Given the description of an element on the screen output the (x, y) to click on. 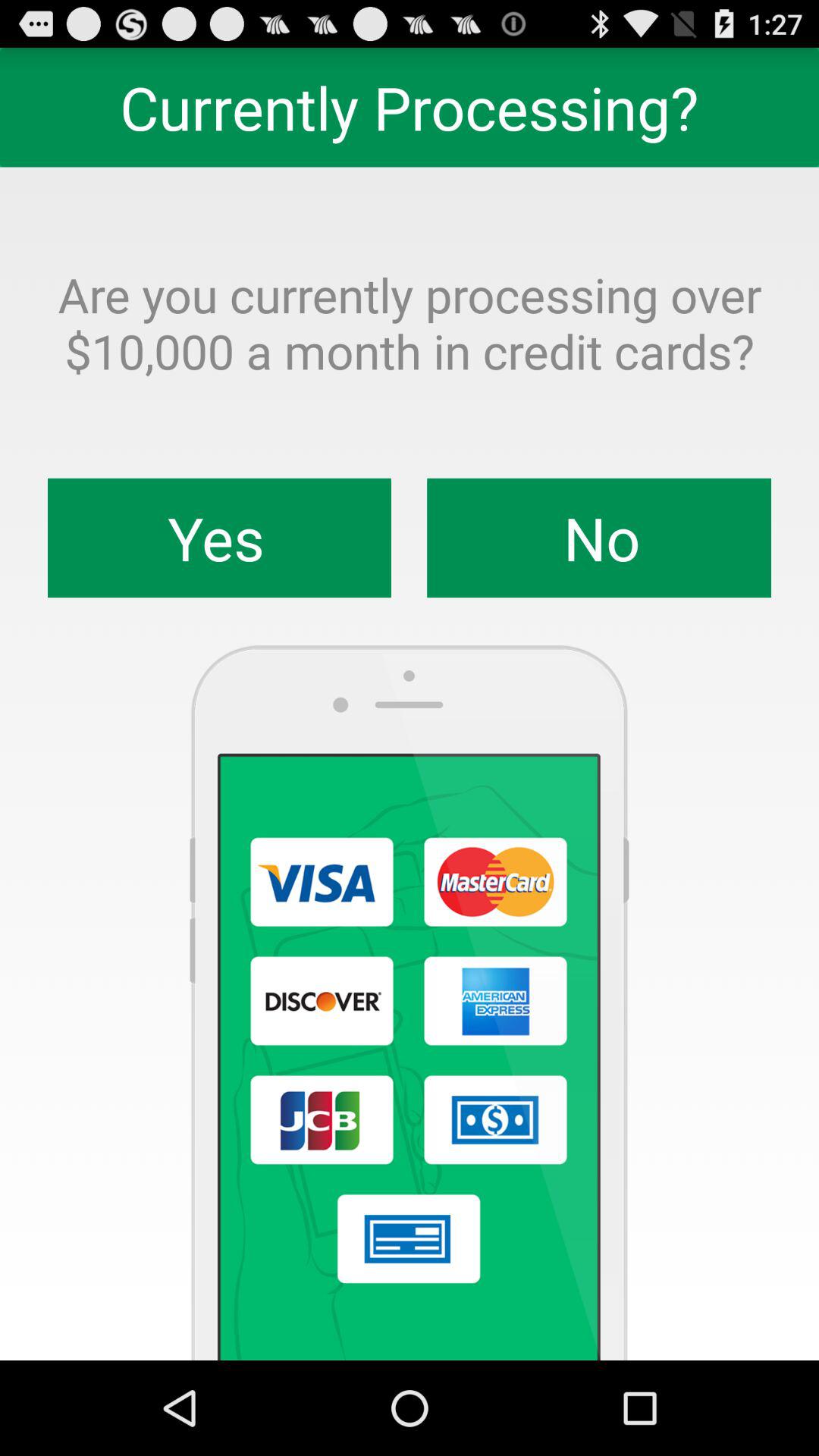
tap the item on the left (219, 537)
